Given the description of an element on the screen output the (x, y) to click on. 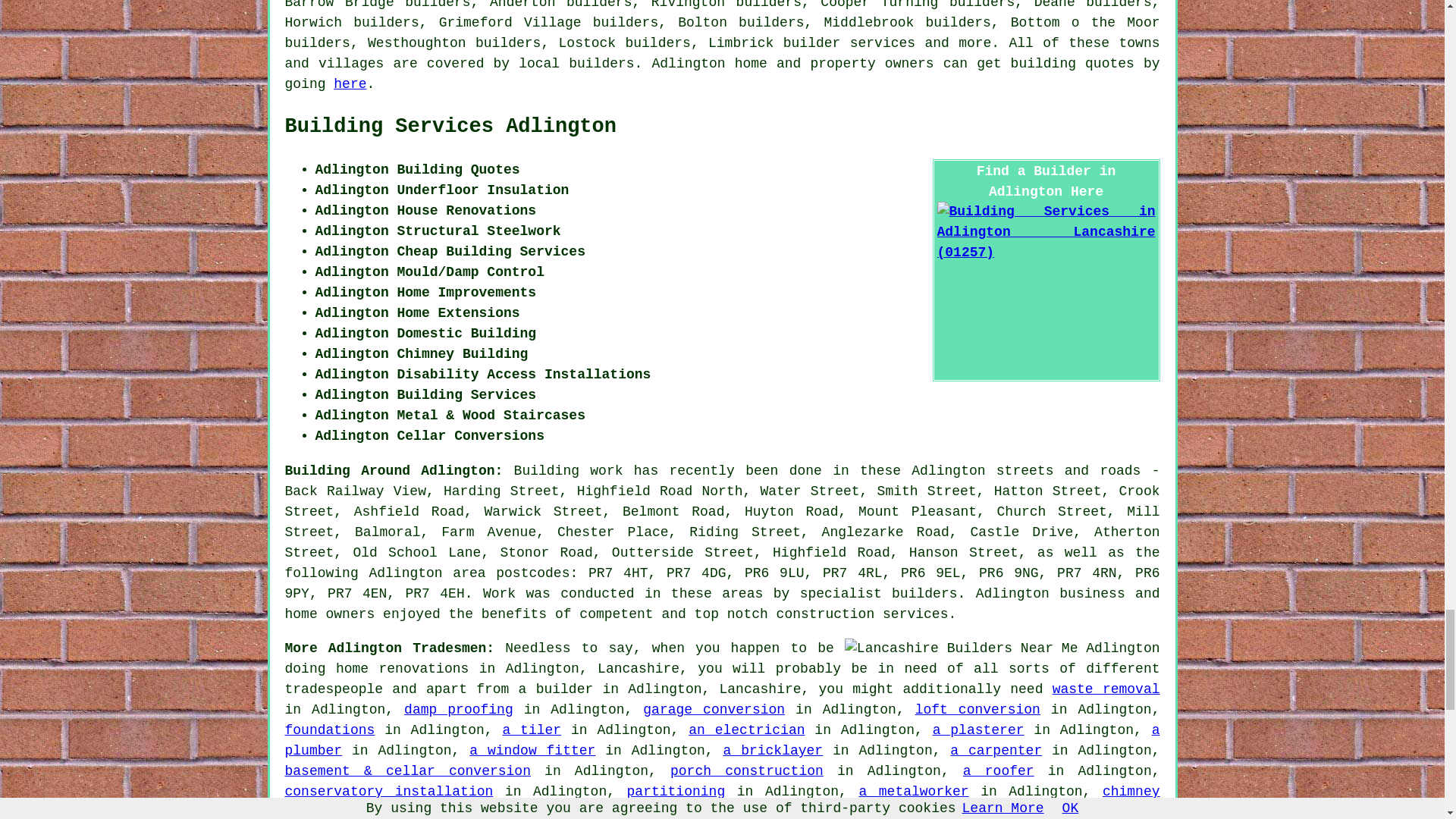
Lancashire Builders Near Me Adlington (1002, 648)
